Given the description of an element on the screen output the (x, y) to click on. 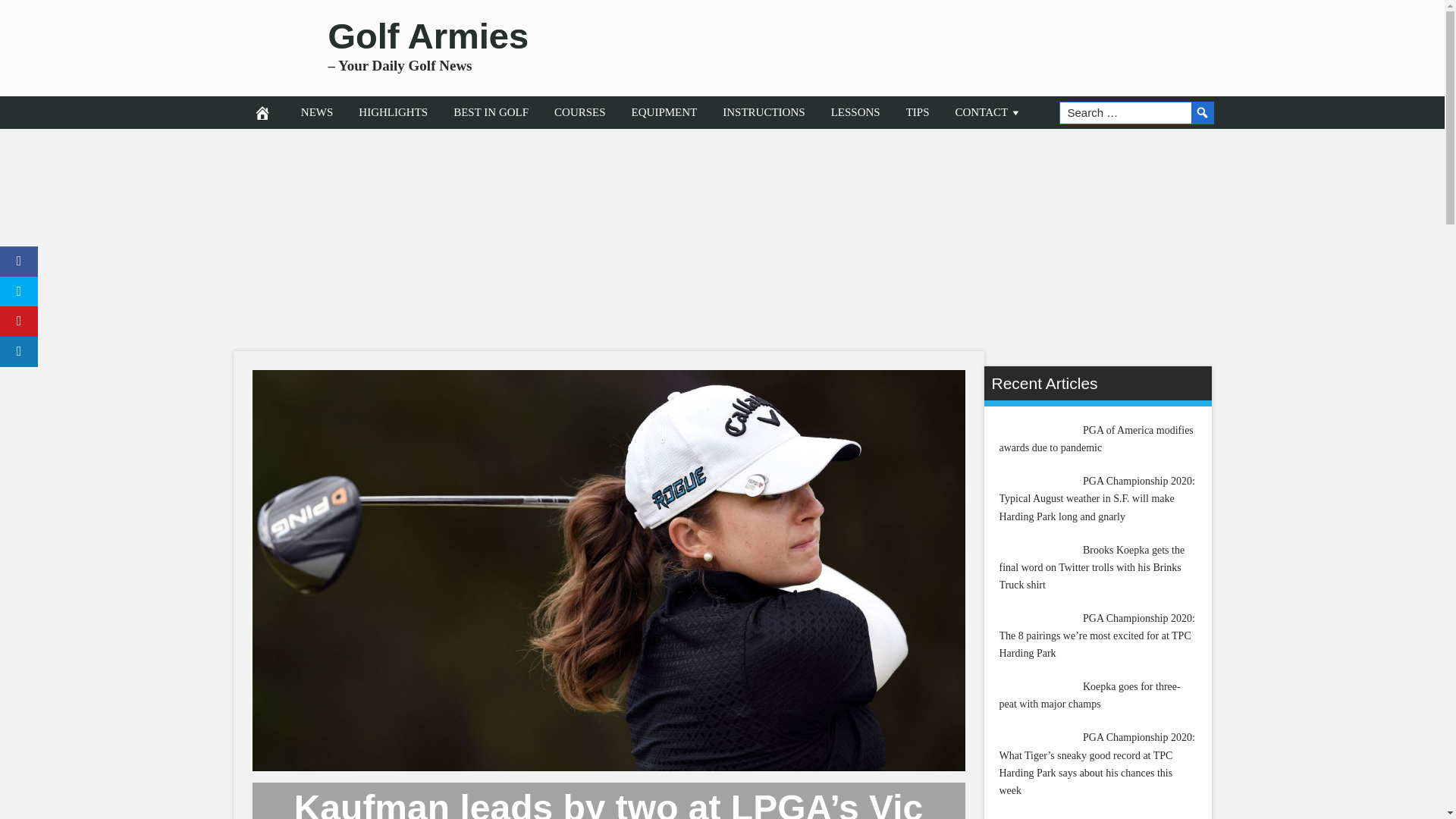
HIGHLIGHTS (393, 112)
LESSONS (855, 112)
TIPS (917, 112)
BEST IN GOLF (491, 112)
INSTRUCTIONS (763, 112)
NEWS (317, 112)
COURSES (579, 112)
CONTACT (988, 112)
Golf Armies (427, 35)
EQUIPMENT (664, 112)
